Given the description of an element on the screen output the (x, y) to click on. 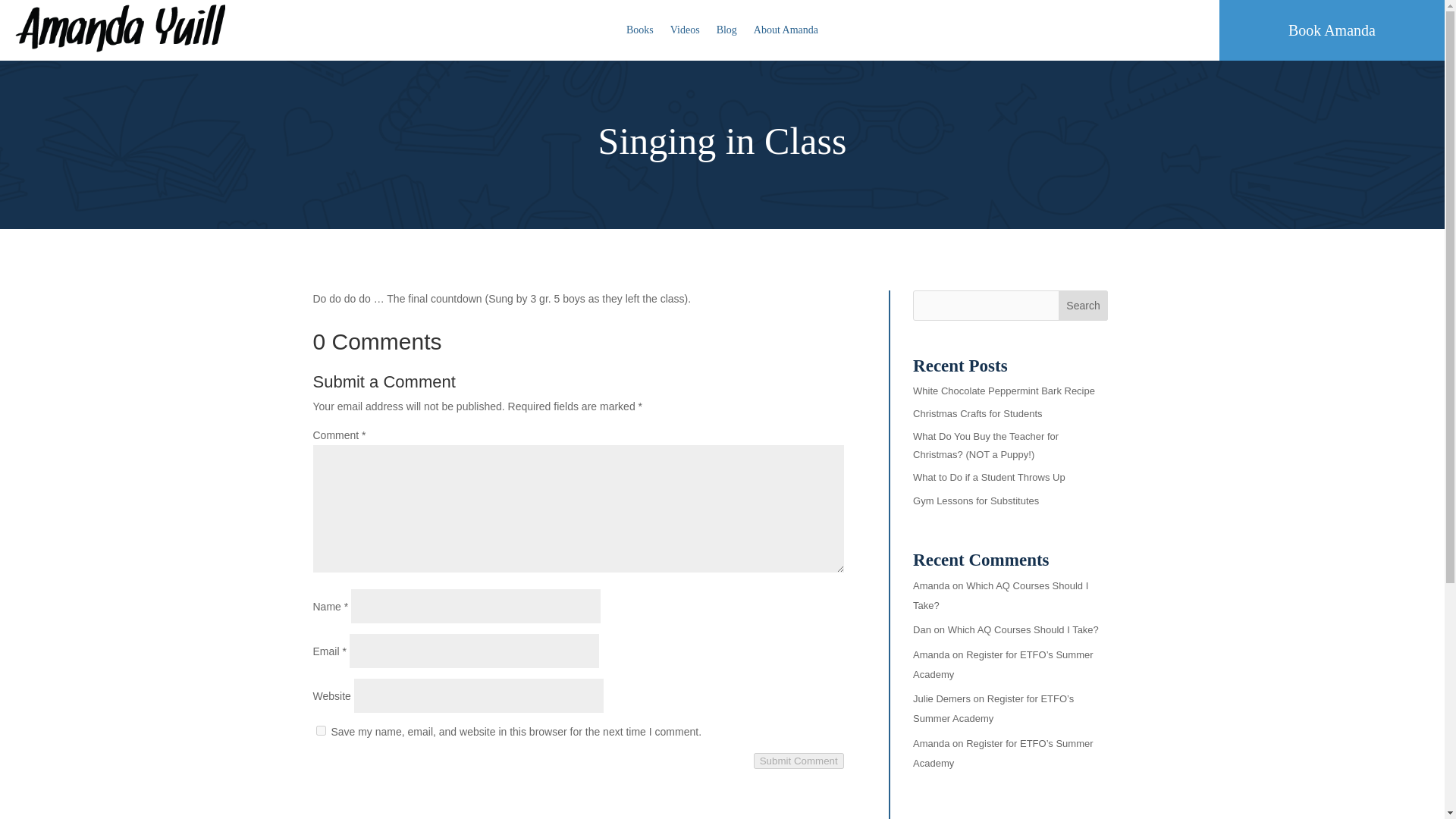
Christmas Crafts for Students (977, 413)
Amanda (930, 654)
Books (639, 33)
About Amanda (786, 33)
Amanda (930, 743)
Search (1083, 305)
Amanda (930, 585)
What to Do if a Student Throws Up (988, 477)
Which AQ Courses Should I Take? (999, 594)
Videos (684, 33)
